Given the description of an element on the screen output the (x, y) to click on. 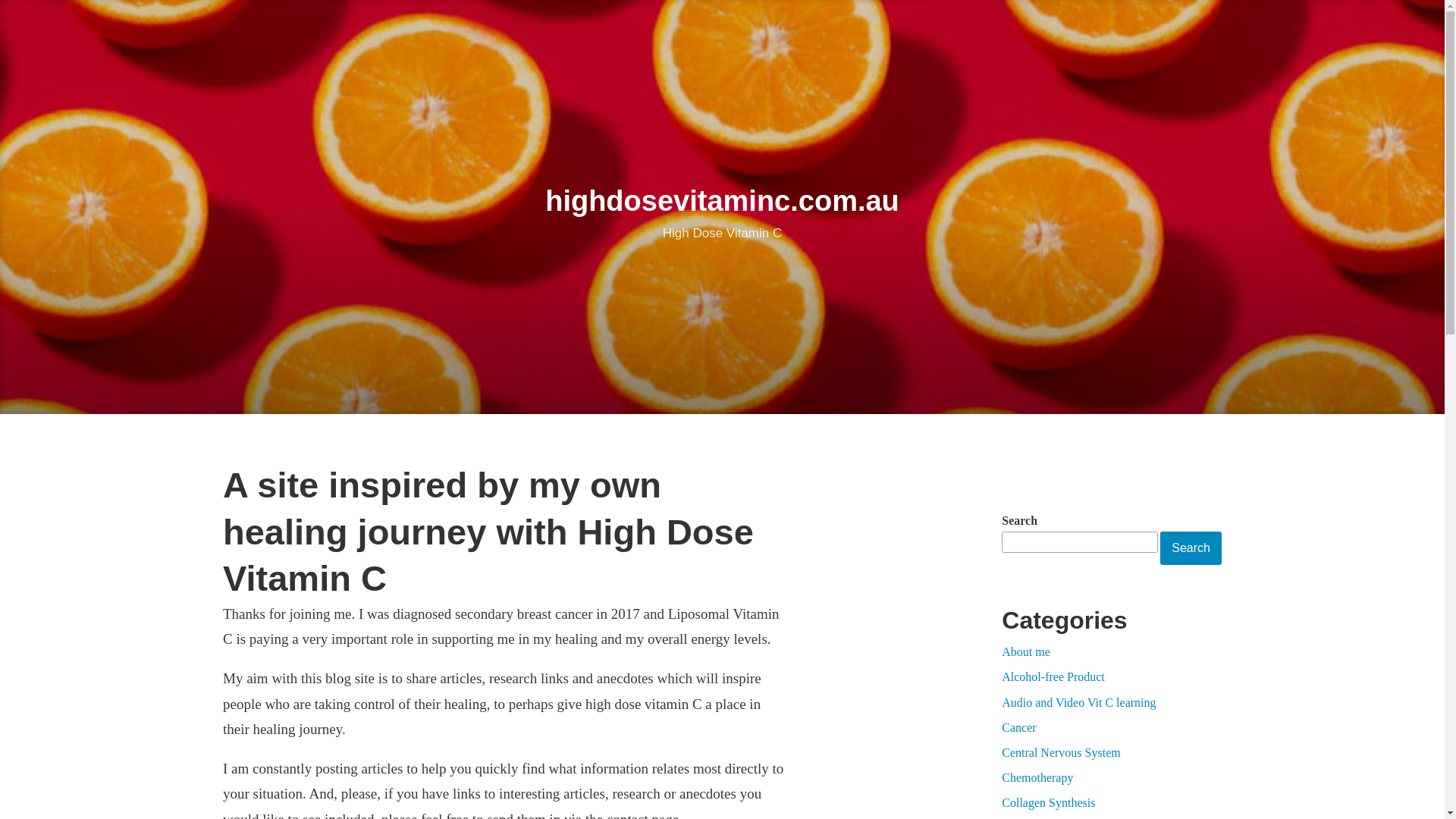
Search Element type: text (1190, 547)
Chemotherapy Element type: text (1037, 777)
highdosevitaminc.com.au Element type: text (722, 200)
Audio and Video Vit C learning Element type: text (1078, 702)
Central Nervous System Element type: text (1060, 752)
Collagen Synthesis Element type: text (1048, 802)
Cancer Element type: text (1018, 727)
Alcohol-free Product Element type: text (1052, 676)
About me Element type: text (1025, 651)
